Given the description of an element on the screen output the (x, y) to click on. 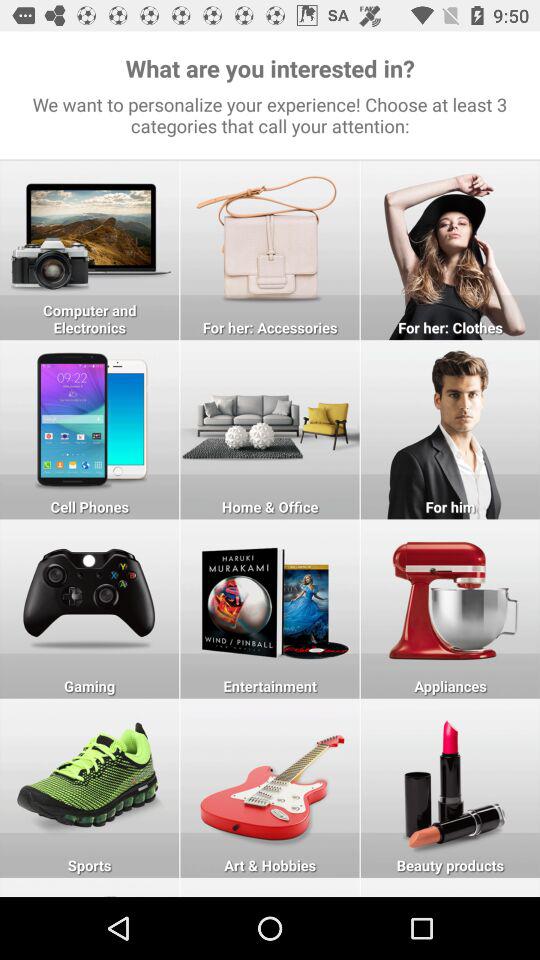
click to computer and electronic option (89, 250)
